Given the description of an element on the screen output the (x, y) to click on. 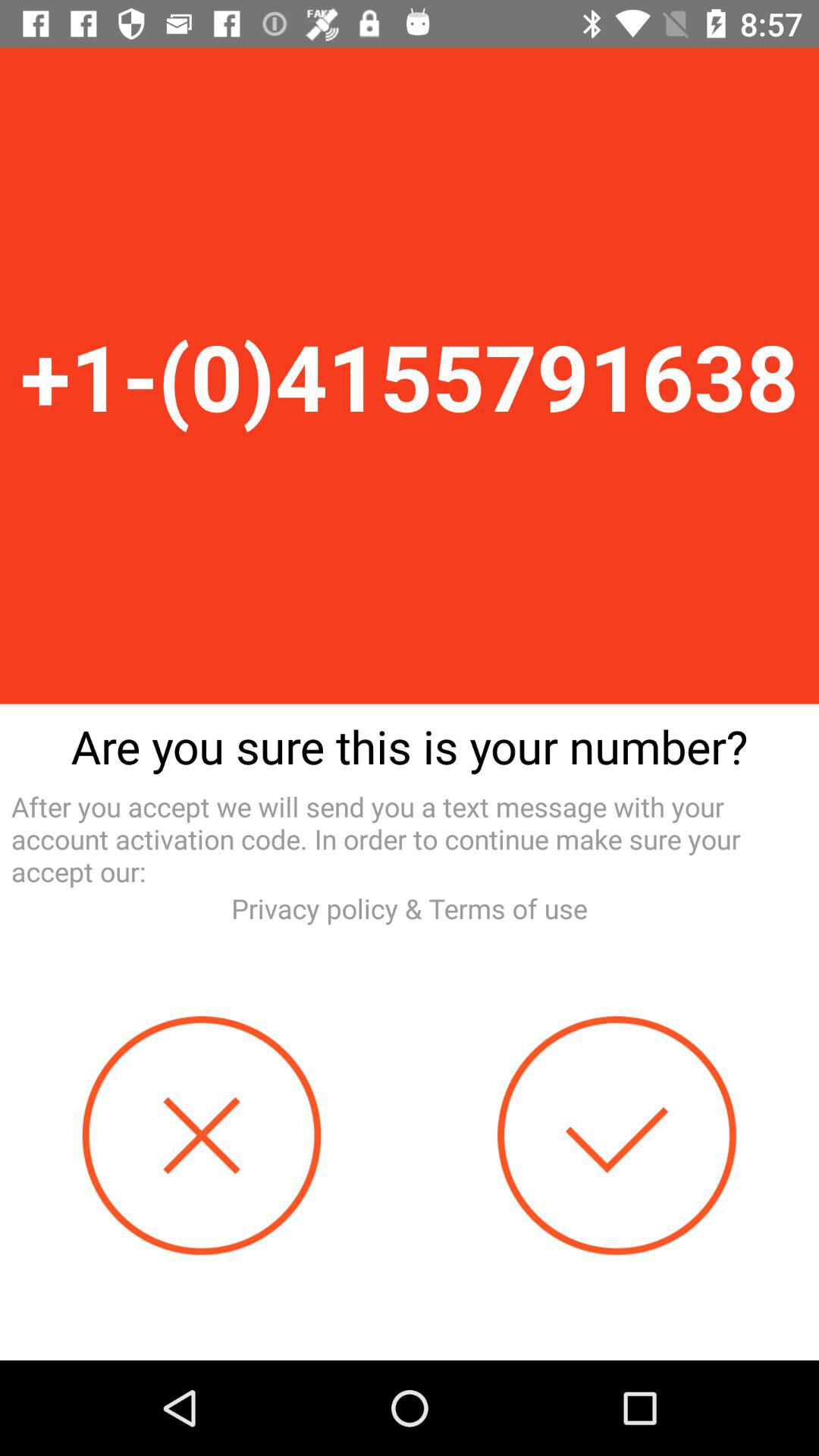
reenter phone number (201, 1135)
